Given the description of an element on the screen output the (x, y) to click on. 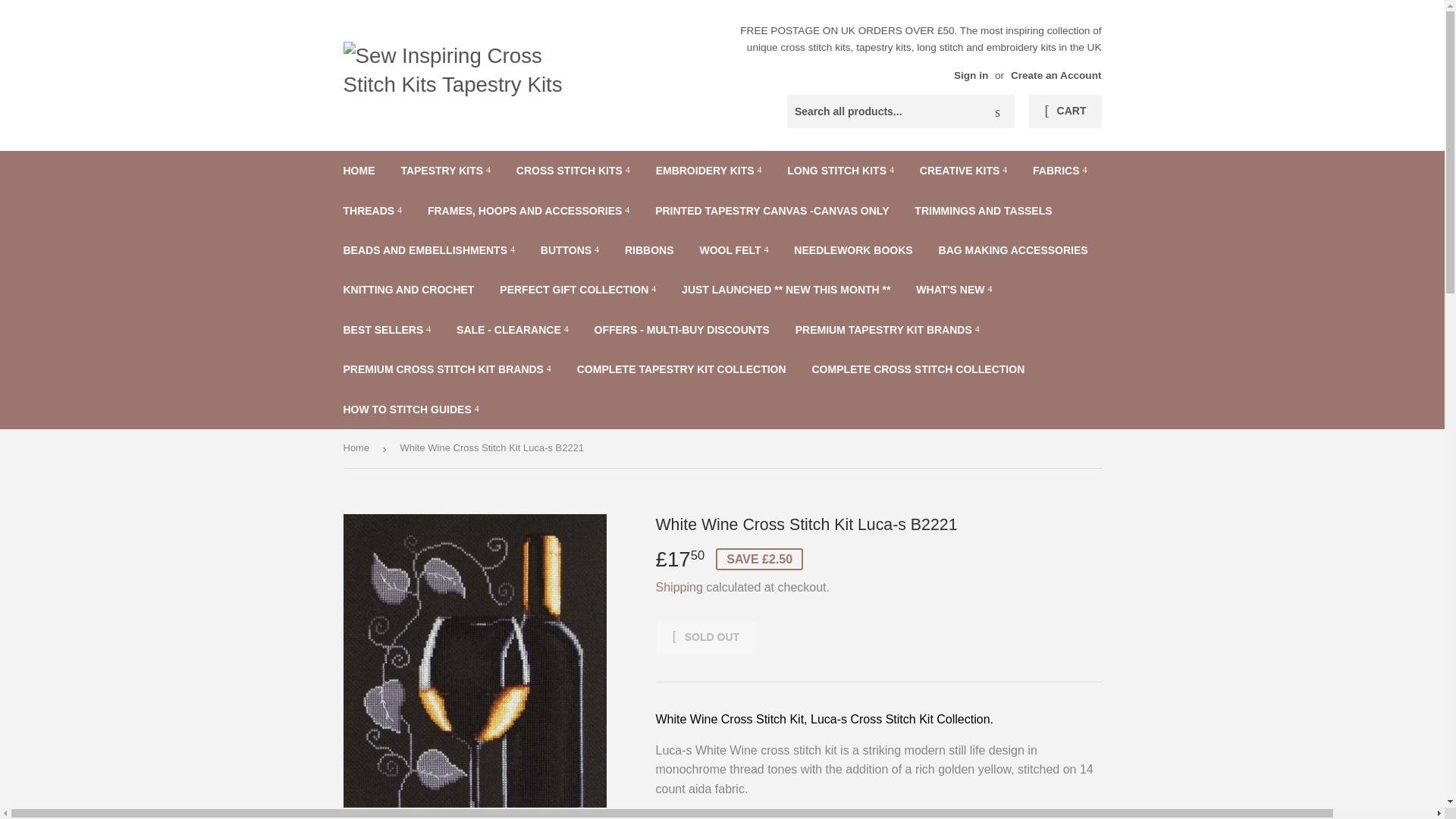
Sign in (970, 75)
Create an Account (1056, 75)
CART (1064, 111)
Search (996, 111)
